Given the description of an element on the screen output the (x, y) to click on. 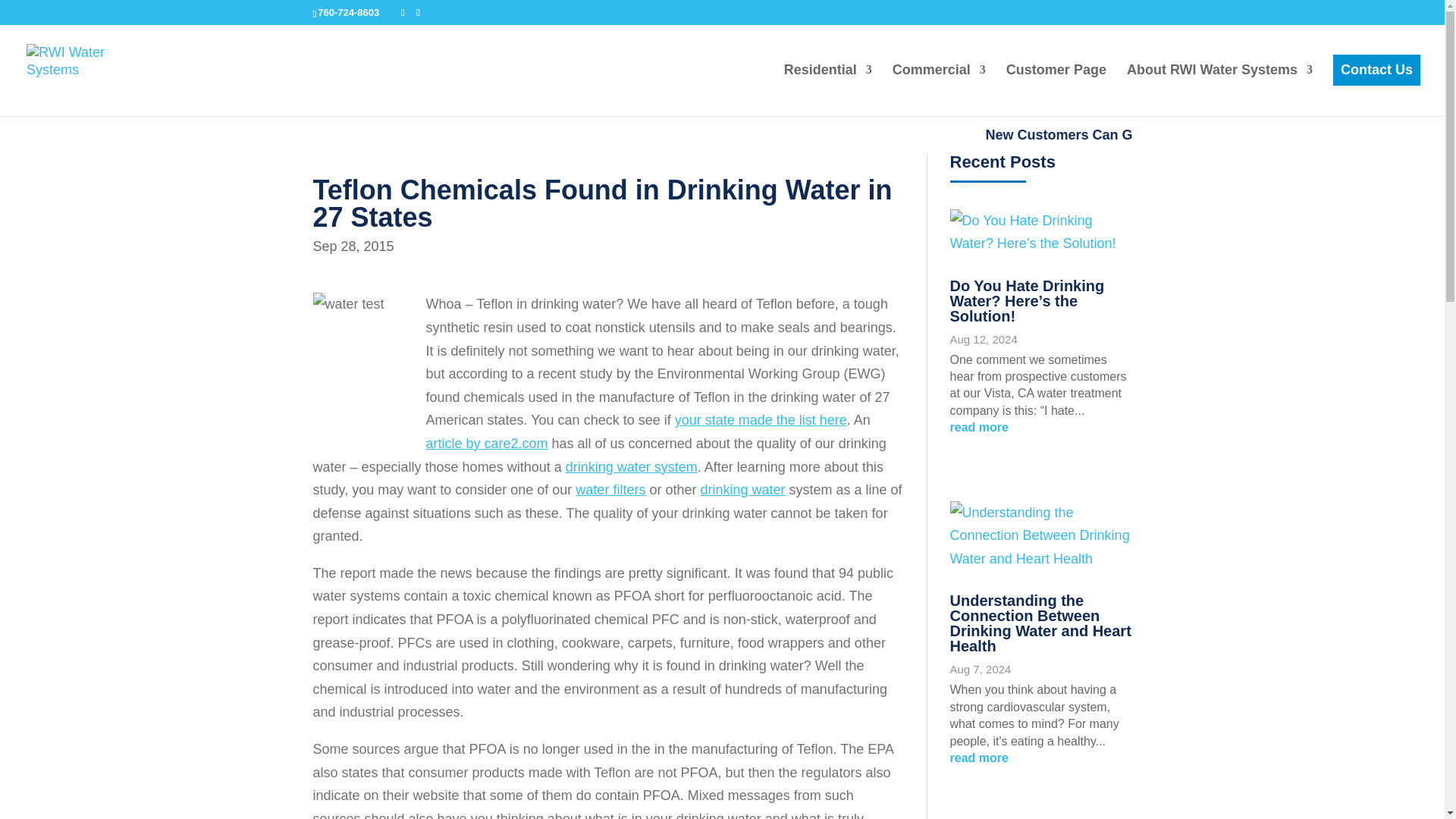
article by care2.com (487, 443)
Commercial (938, 83)
read more (1040, 427)
760-724-8603 (347, 12)
Customer Page (1056, 83)
read more (1040, 758)
drinking water (742, 489)
Contact Us (1377, 70)
water filters (610, 489)
